Given the description of an element on the screen output the (x, y) to click on. 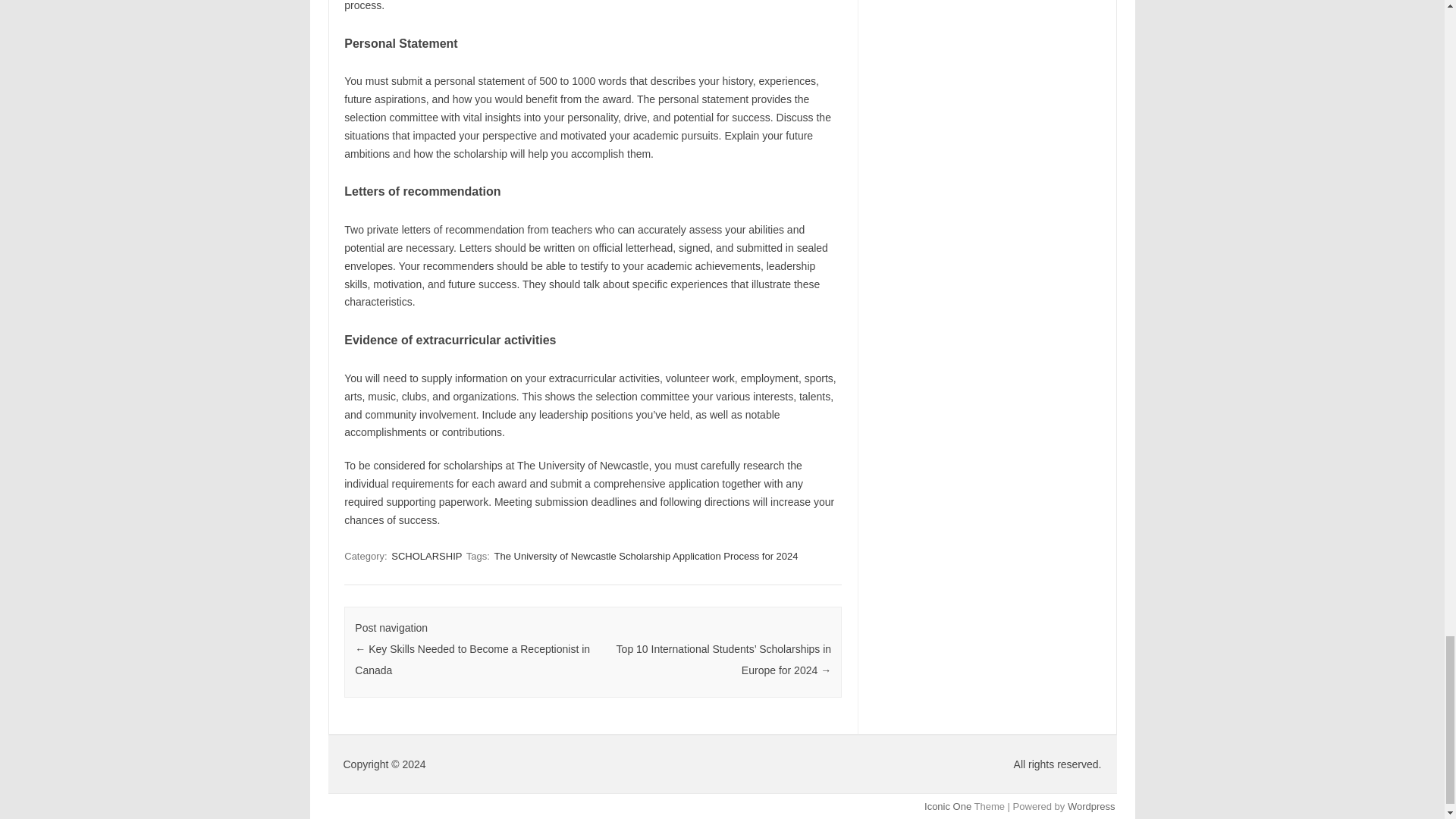
SCHOLARSHIP (426, 555)
Wordpress (1091, 806)
Iconic One (947, 806)
